Given the description of an element on the screen output the (x, y) to click on. 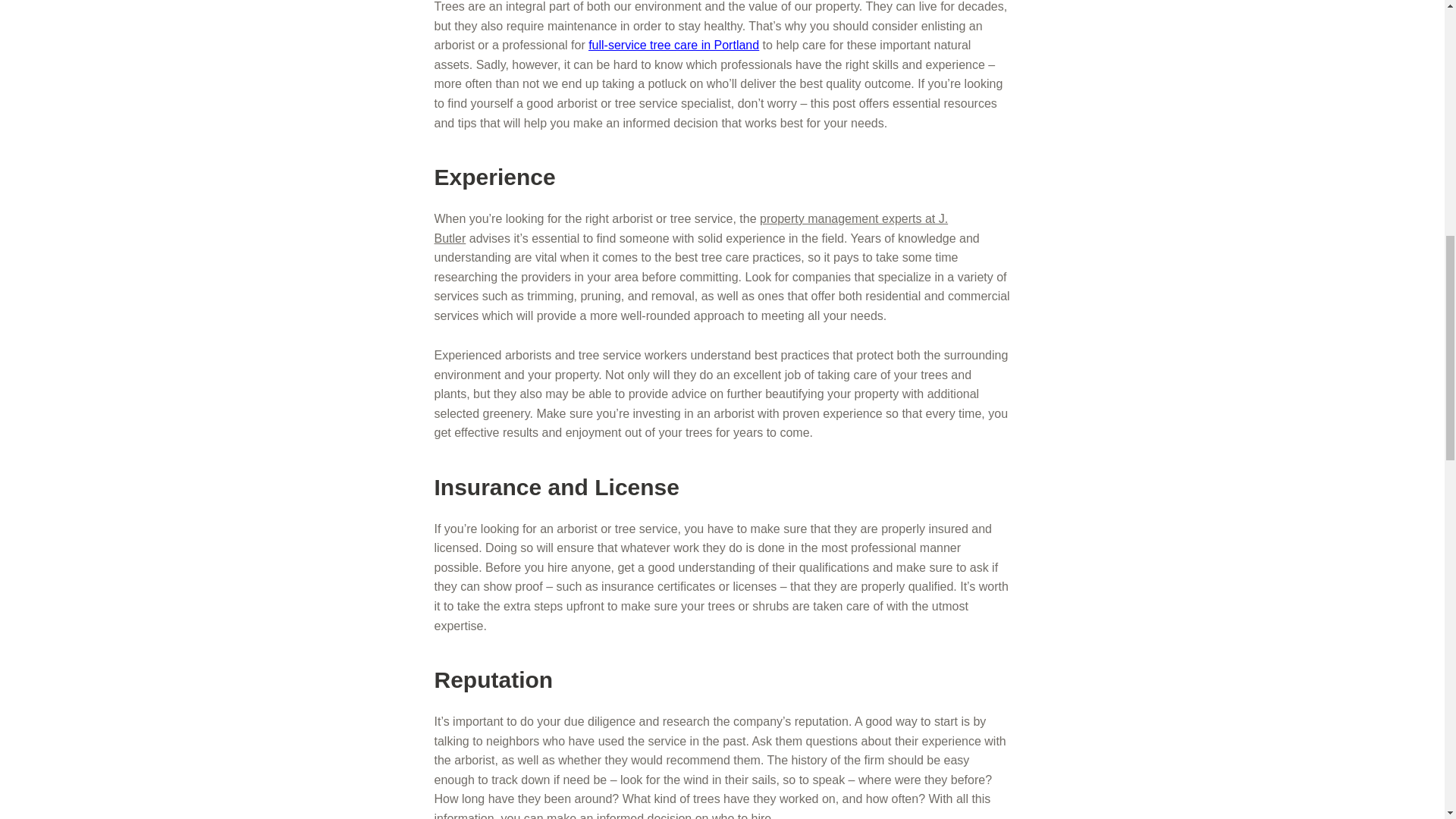
full-service tree care in Portland (673, 44)
property management experts at J. Butler (690, 228)
